Given the description of an element on the screen output the (x, y) to click on. 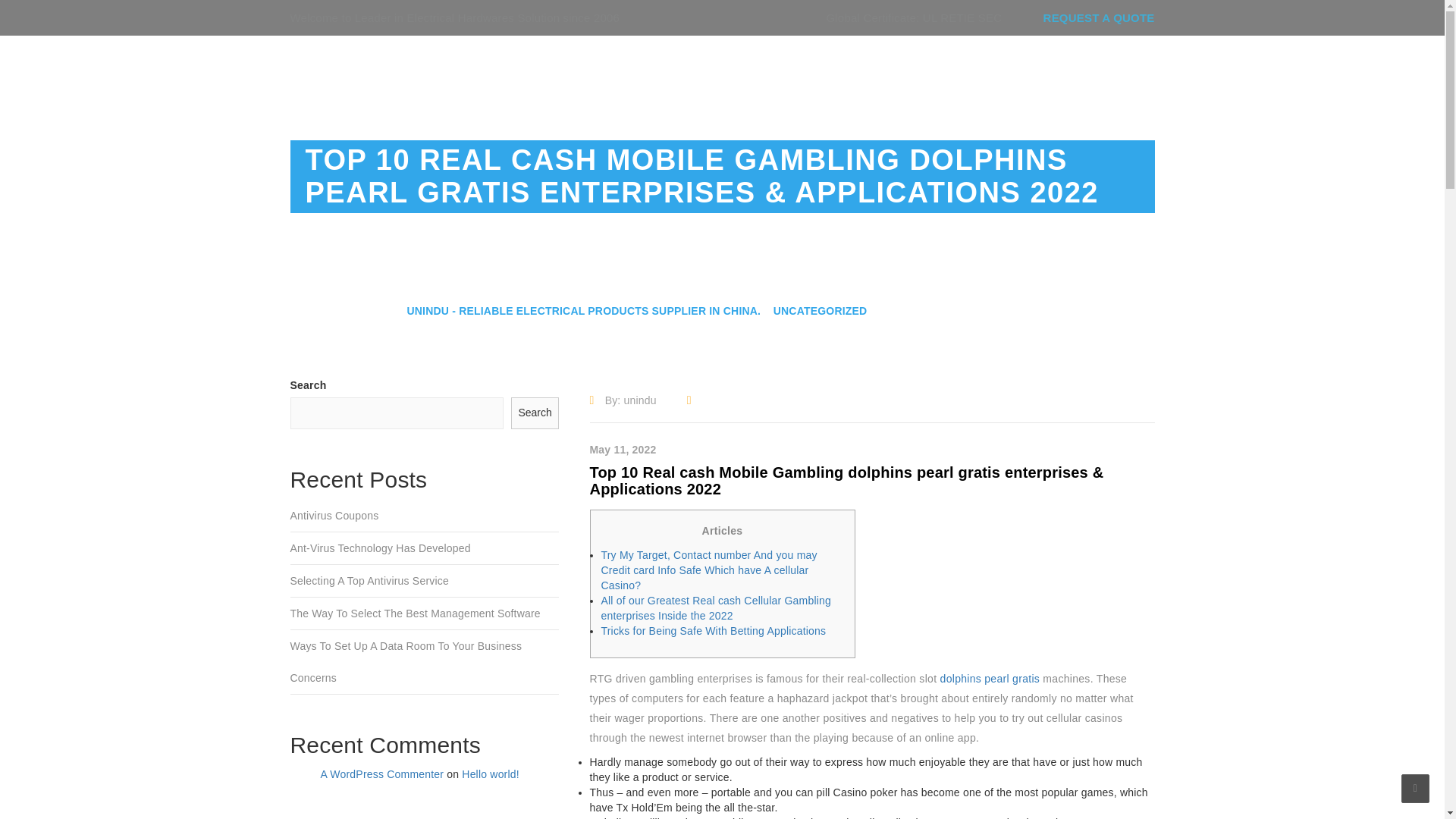
dolphins pearl gratis (990, 678)
Tricks for Being Safe With Betting Applications (712, 630)
UNINDU - RELIABLE ELECTRICAL PRODUCTS SUPPLIER IN CHINA. (583, 311)
Ant-Virus Technology Has Developed (424, 548)
PRODUCT (871, 77)
Ways To Set Up A Data Room To Your Business Concerns (424, 661)
Antivirus Coupons (424, 515)
Hello world! (490, 774)
Go to the Uncategorized category archives. (820, 311)
UNCATEGORIZED (820, 311)
A WordPress Commenter (382, 774)
ABOUT US (782, 77)
